Given the description of an element on the screen output the (x, y) to click on. 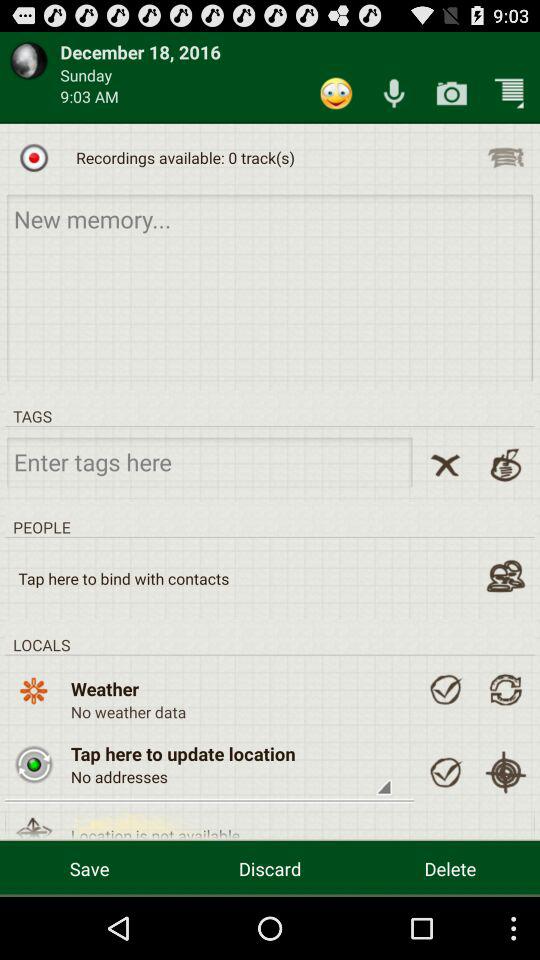
for play option (34, 157)
